Given the description of an element on the screen output the (x, y) to click on. 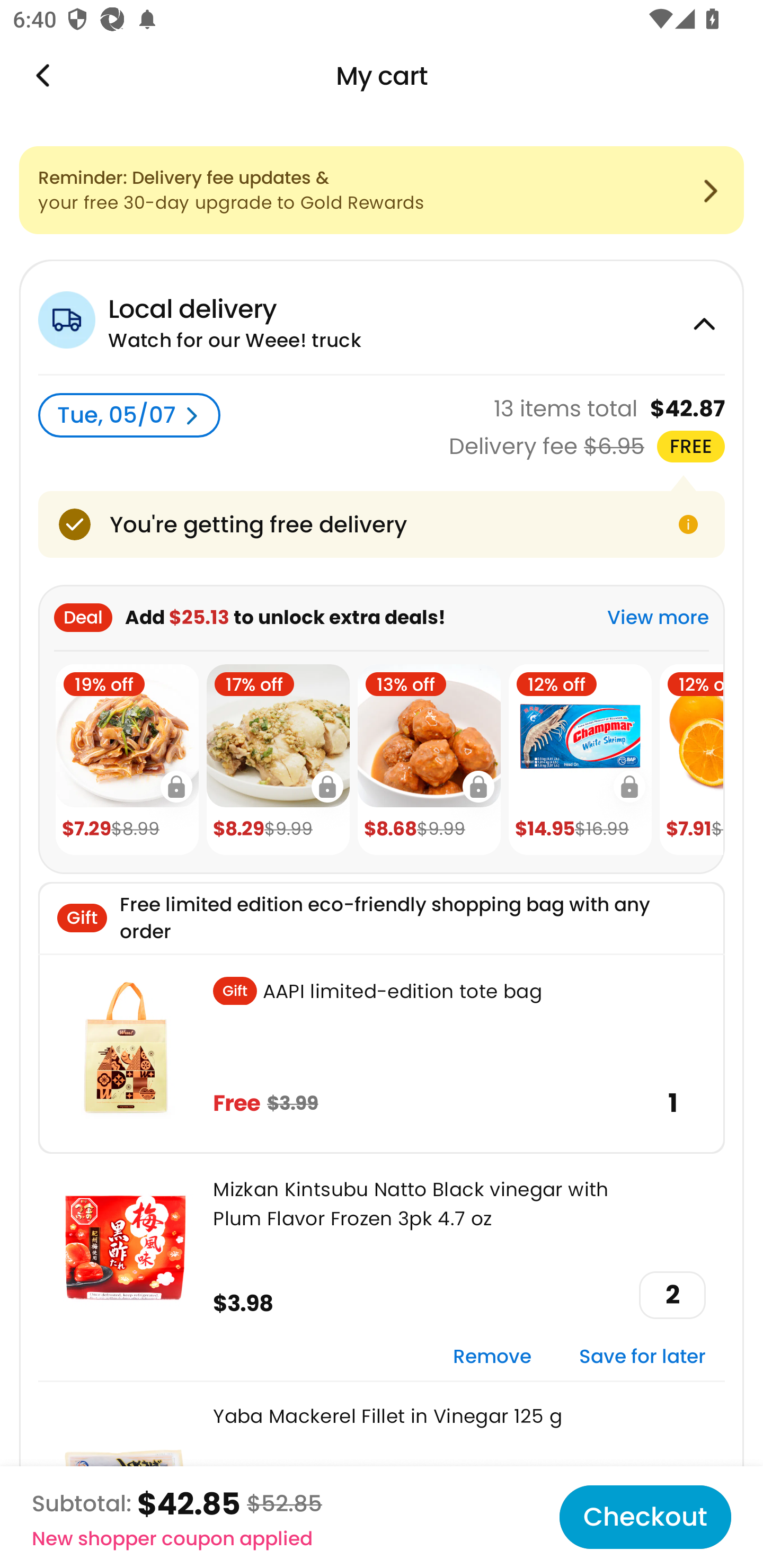
Local delivery Watch for our Weee! truck (381, 317)
Tue, 05/07 (129, 415)
You're getting free delivery (381, 524)
19% off $7.29 $8.99 (126, 759)
17% off $8.29 $9.99 (277, 759)
13% off $8.68 $9.99 (428, 759)
12% off $14.95 $16.99 (579, 759)
. AAPI limited-edition tote bag Free $3.99 1 (381, 1053)
2 (672, 1294)
Remove (491, 1356)
Save for later (642, 1356)
Checkout (644, 1516)
